Given the description of an element on the screen output the (x, y) to click on. 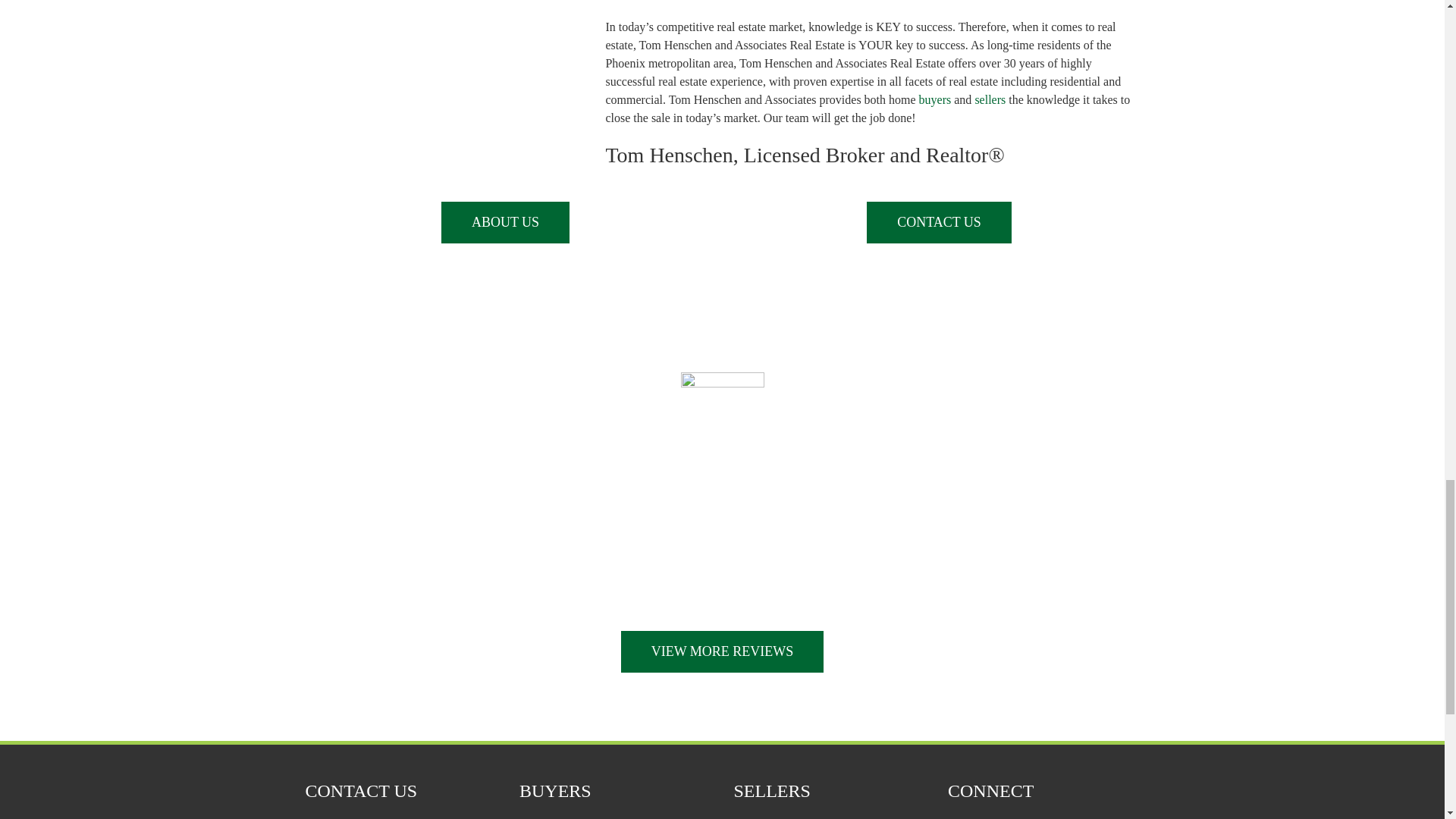
Licensed Broker and Arizona Real Estate Agent (505, 222)
